Given the description of an element on the screen output the (x, y) to click on. 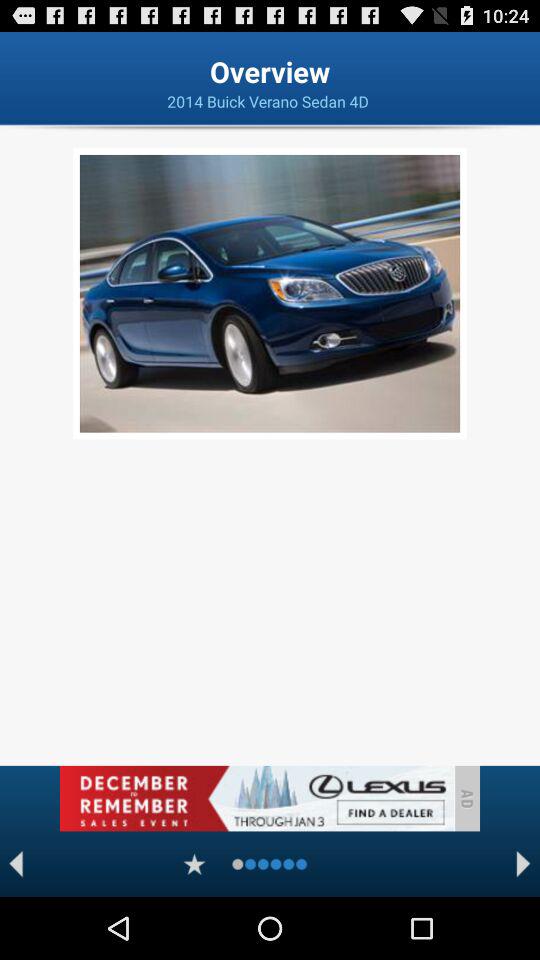
view advertisement (256, 798)
